Given the description of an element on the screen output the (x, y) to click on. 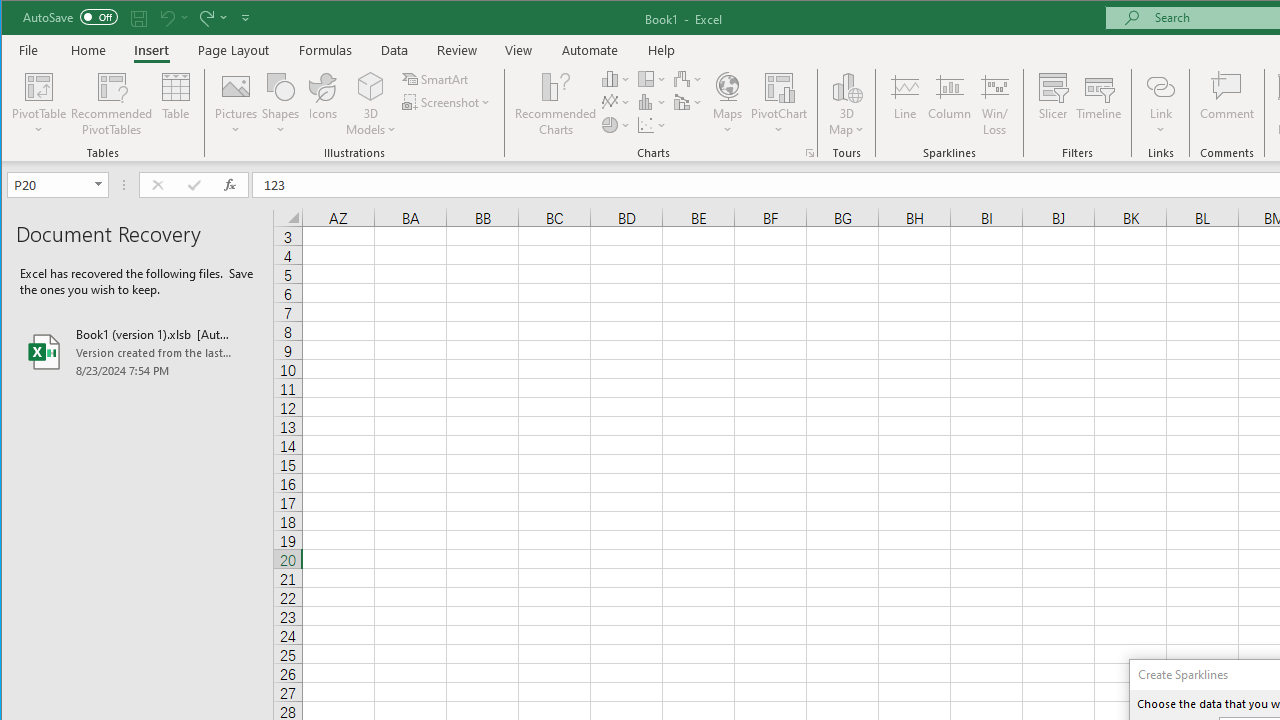
Insert Scatter (X, Y) or Bubble Chart (652, 124)
Maps (727, 104)
Link (1160, 86)
Insert Column or Bar Chart (616, 78)
Line (904, 104)
3D Map (846, 104)
